Given the description of an element on the screen output the (x, y) to click on. 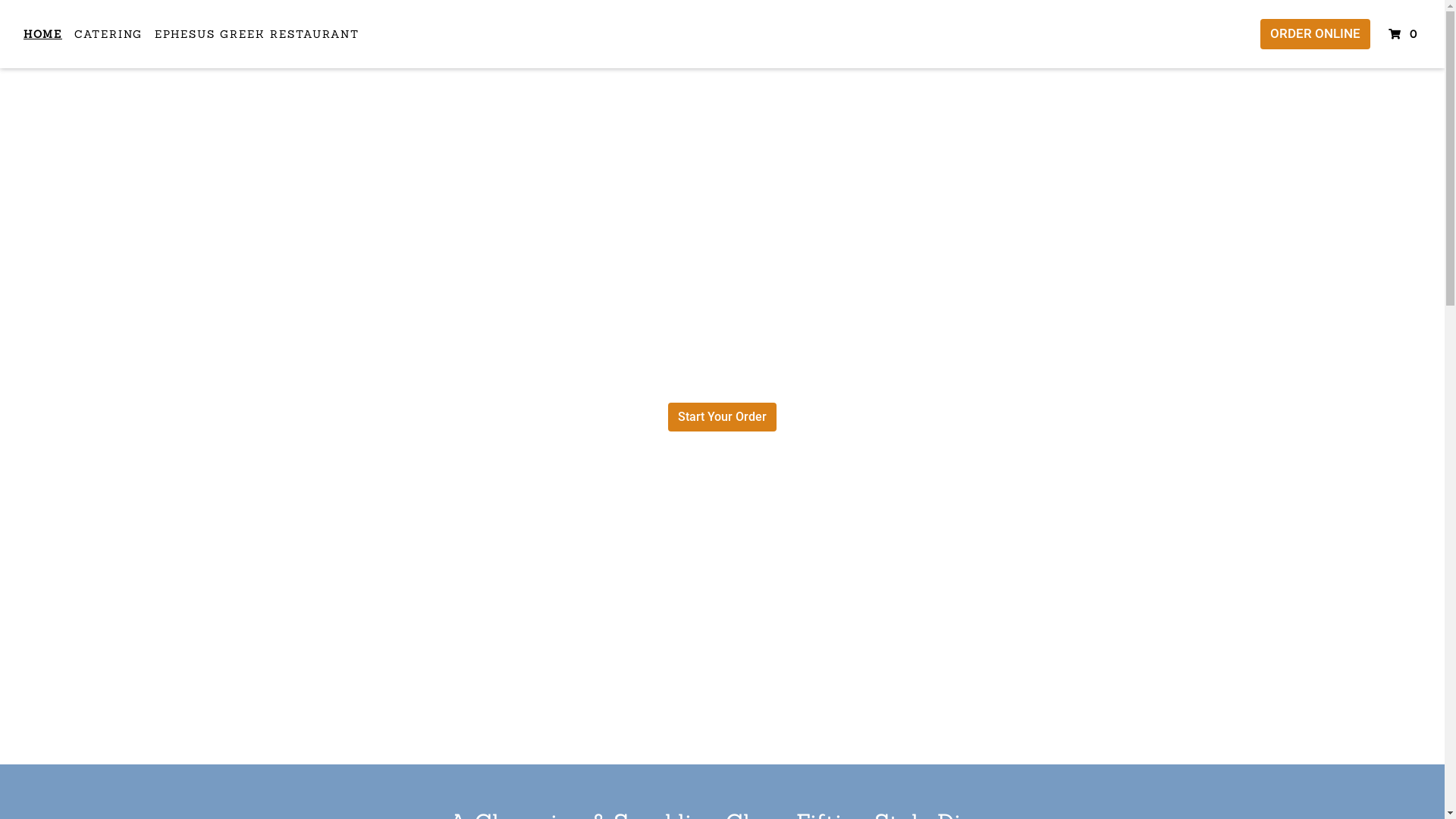
0
 ITEMS IN CART Element type: text (1404, 33)
Start Your Order Element type: text (722, 416)
EPHESUS GREEK RESTAURANT Element type: text (256, 33)
HOME Element type: text (42, 33)
CATERING Element type: text (108, 33)
ORDER ONLINE Element type: text (1315, 33)
